Given the description of an element on the screen output the (x, y) to click on. 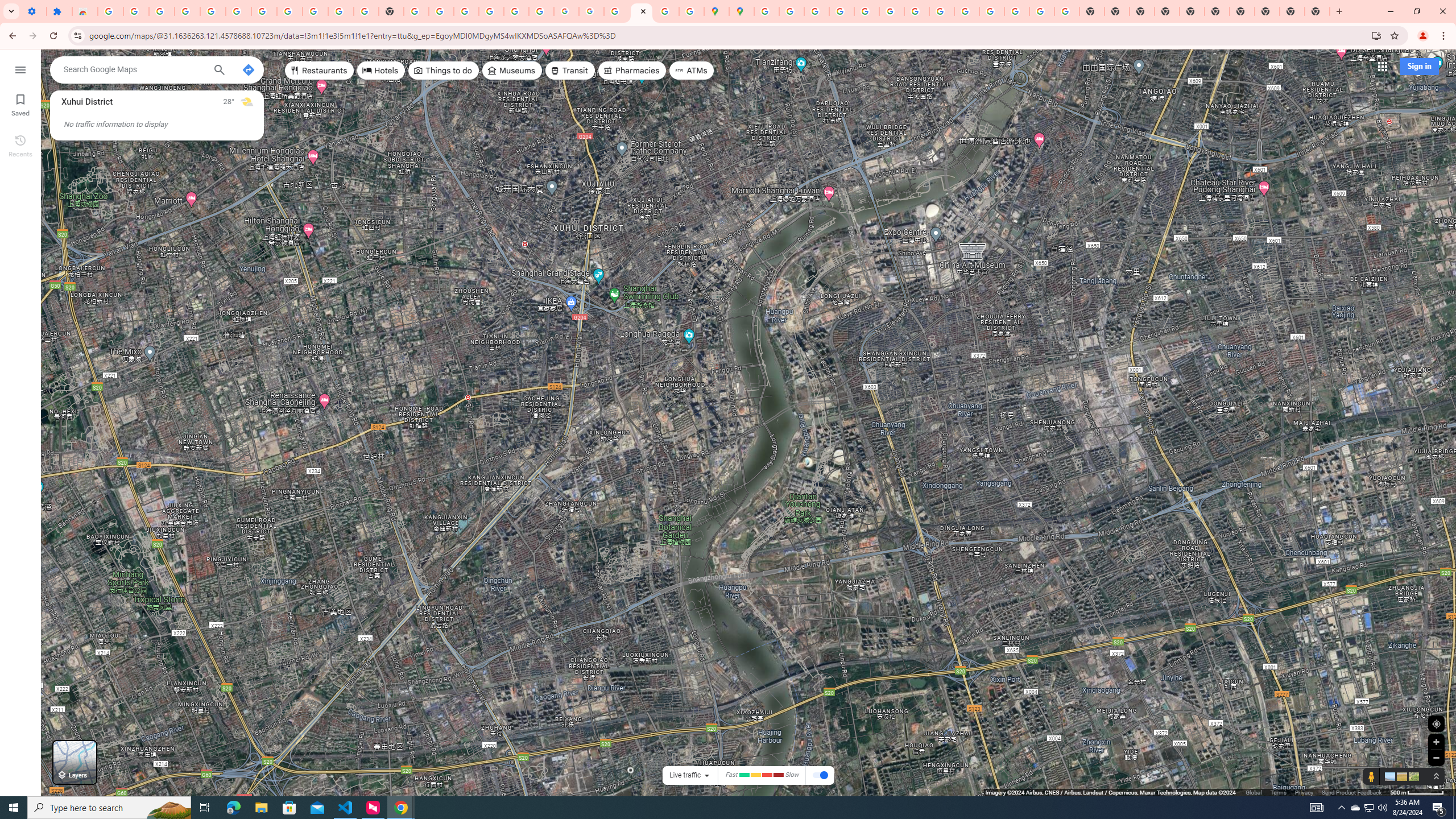
Hotels (381, 70)
New Tab (1166, 11)
Sign in - Google Accounts (766, 11)
Menu (20, 68)
Delete photos & videos - Computer - Google Photos Help (186, 11)
Show Street View coverage (1371, 776)
Search Google Maps (133, 69)
Global (1253, 792)
Layers (74, 762)
Google Images (1066, 11)
